Given the description of an element on the screen output the (x, y) to click on. 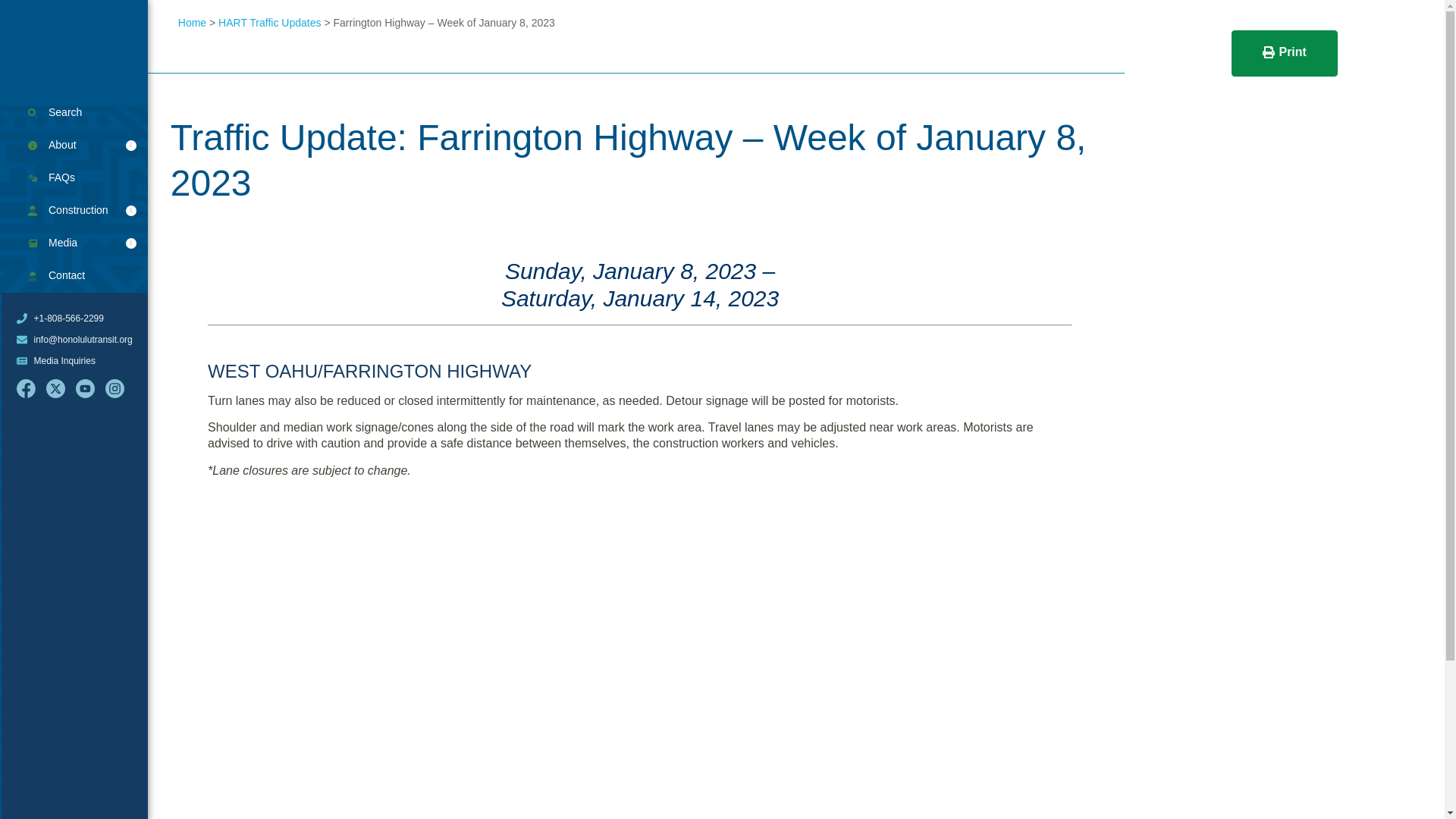
Media (74, 243)
Construction (74, 210)
About (74, 145)
Search (74, 112)
FAQs (74, 178)
